Given the description of an element on the screen output the (x, y) to click on. 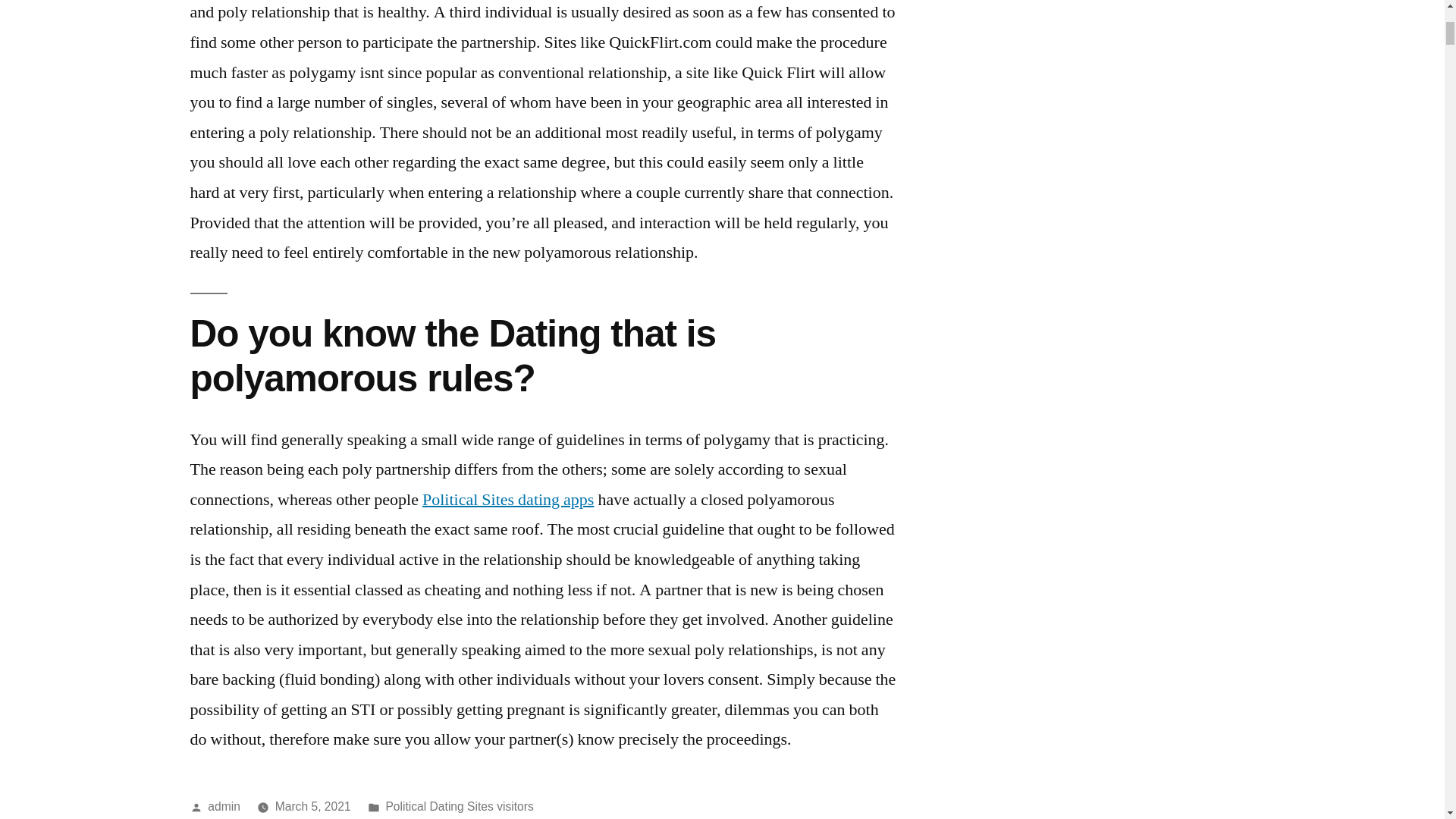
March 5, 2021 (312, 806)
Political Sites dating apps (508, 499)
Political Dating Sites visitors (458, 806)
admin (224, 806)
